Given the description of an element on the screen output the (x, y) to click on. 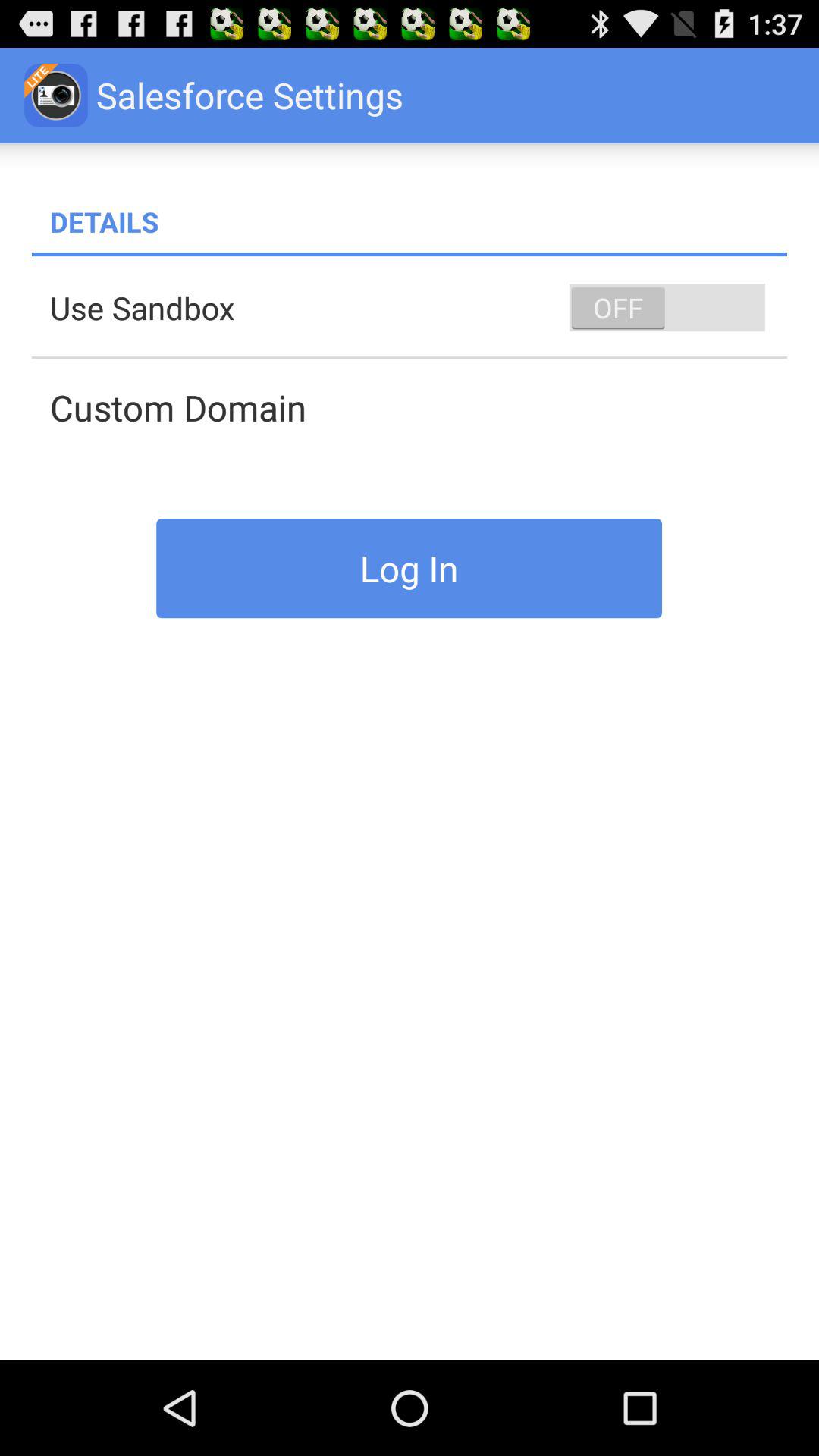
jump to log in icon (409, 568)
